Given the description of an element on the screen output the (x, y) to click on. 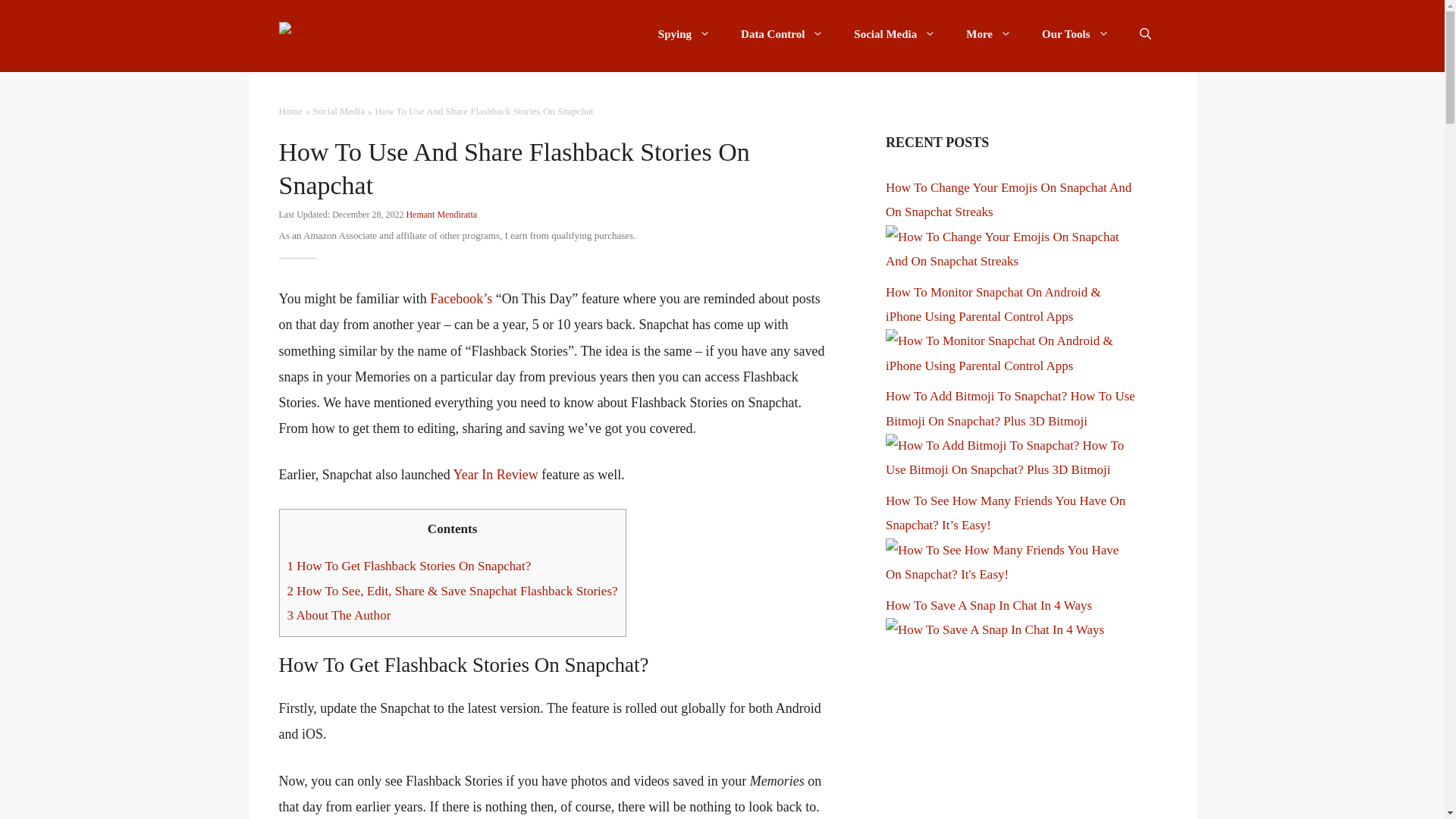
How To Save A Snap In Chat In 4 Ways (994, 629)
Home (290, 111)
Hemant Mendiratta (441, 214)
Tools developed at TechUntold (1075, 33)
How To See How Many Friends You Have On Snapchat? It's Easy! (1010, 574)
More (988, 33)
Social Media (894, 33)
Hemant Mendiratta (441, 214)
Social Media (339, 111)
